Given the description of an element on the screen output the (x, y) to click on. 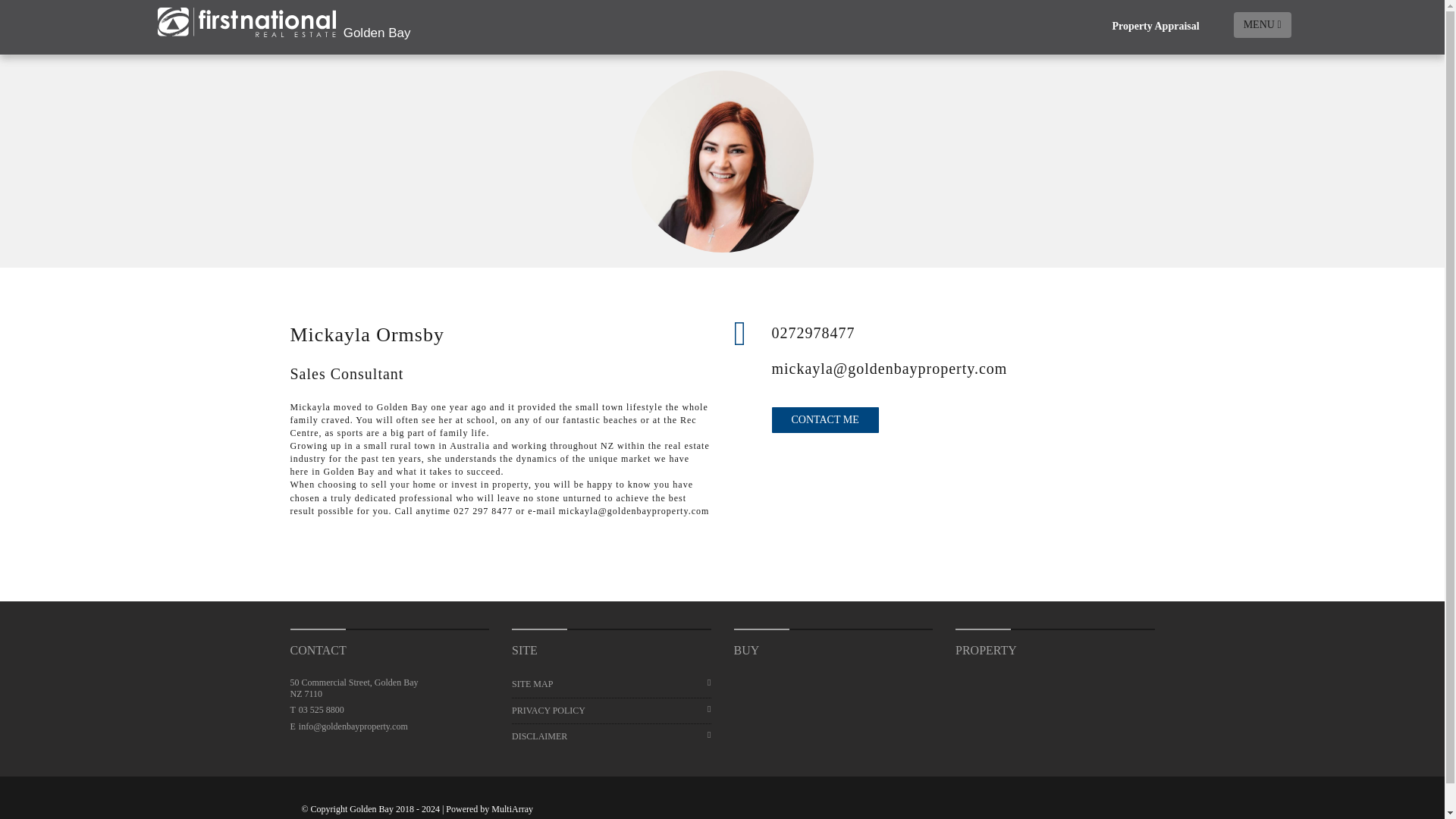
Property Appraisal (1155, 27)
CONTACT ME (825, 420)
Mickayla Ormsby (721, 161)
DISCLAIMER (611, 736)
SITE MAP (611, 684)
PRIVACY POLICY (611, 710)
03 525 8800 (320, 709)
0272978477 (962, 332)
